Given the description of an element on the screen output the (x, y) to click on. 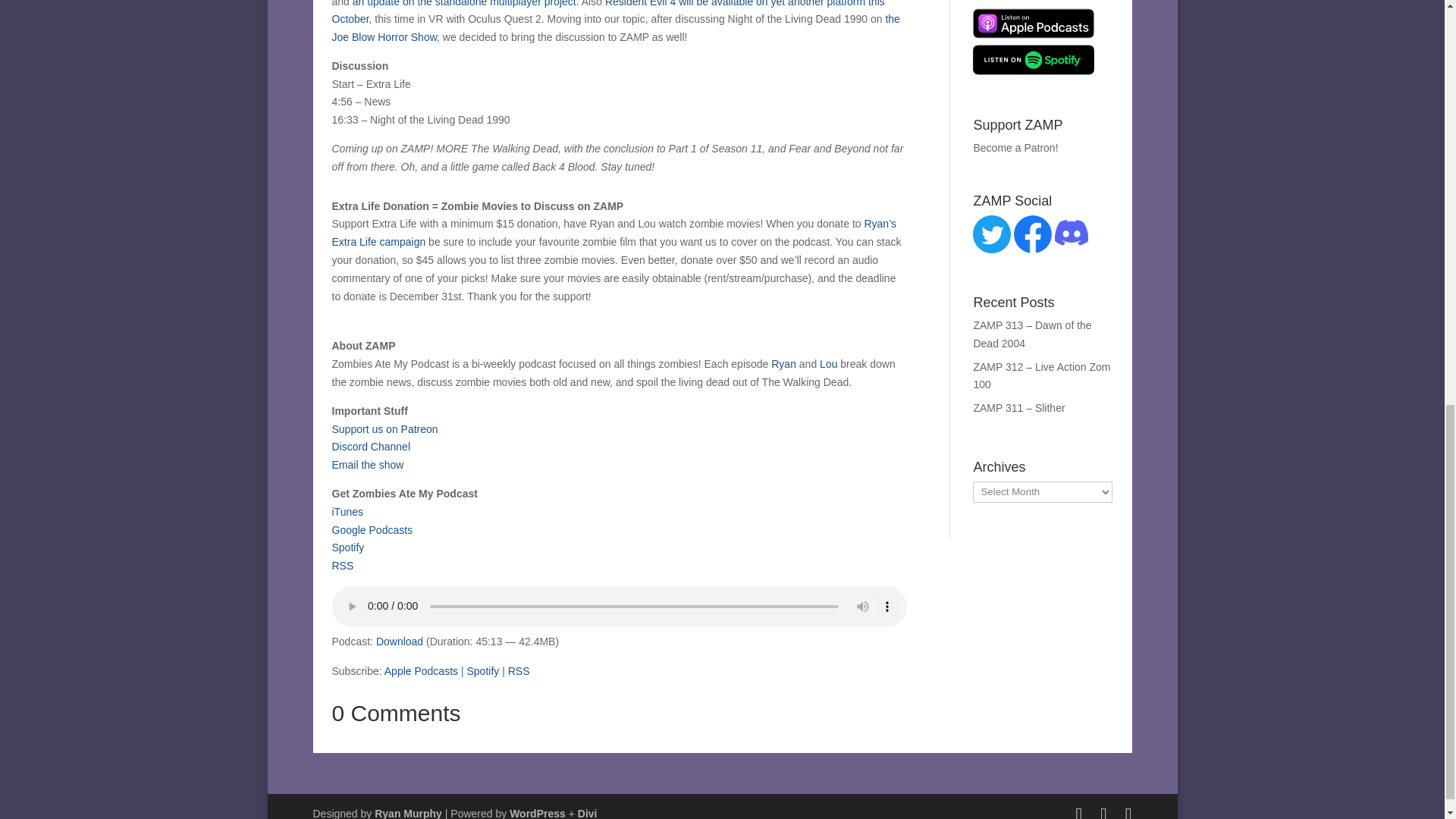
WordPress (537, 813)
Subscribe via RSS (518, 671)
Lou (828, 363)
Discord Channel (370, 446)
Spotify (348, 547)
Download (399, 641)
Google Podcasts (372, 530)
RSS (342, 565)
Email the show (367, 464)
iTunes (347, 511)
an update on the standalone multiplayer project (464, 3)
Spotify (482, 671)
Ryan (783, 363)
the Joe Blow Horror Show (615, 28)
